Given the description of an element on the screen output the (x, y) to click on. 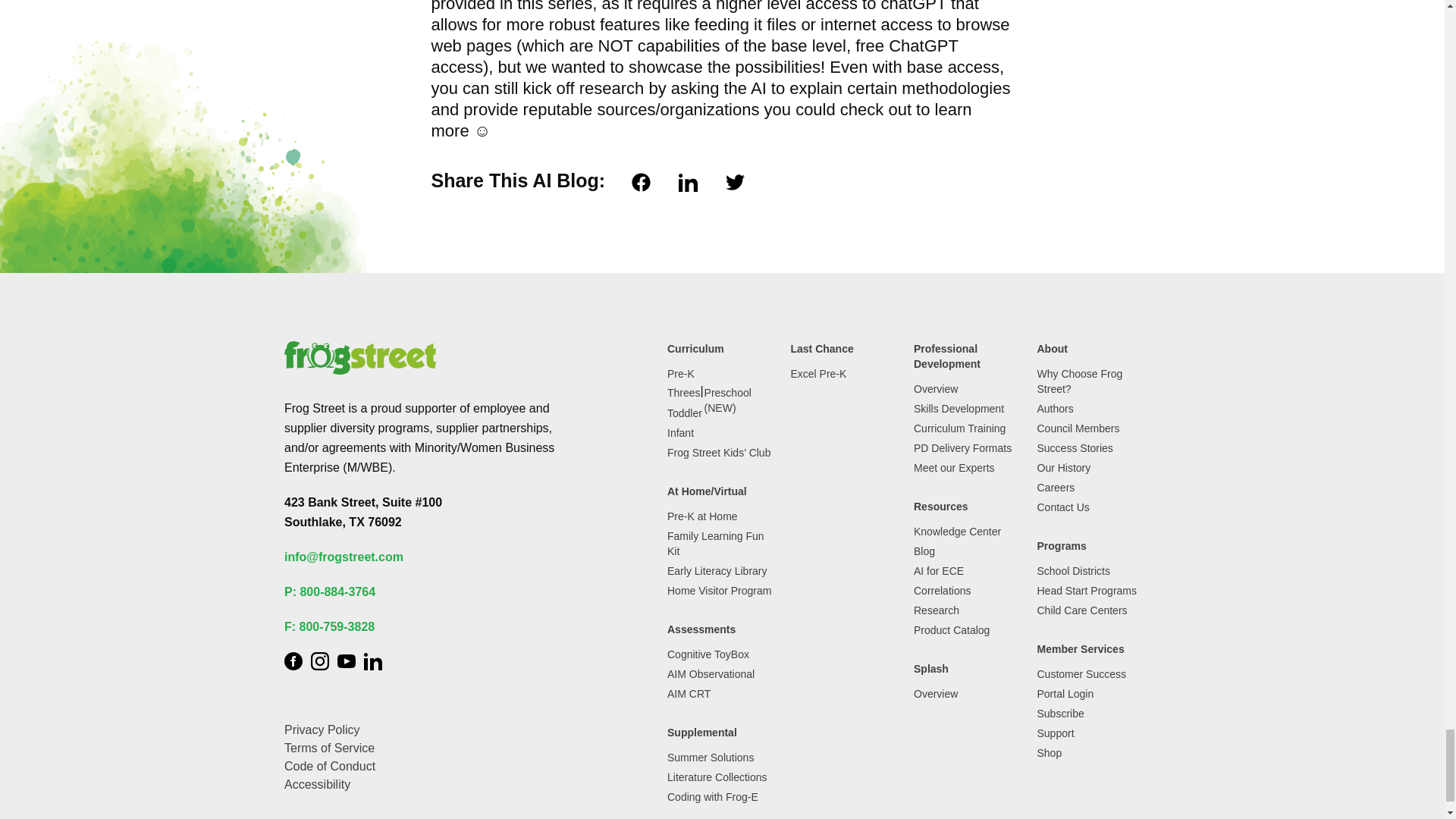
Linkedin Link (372, 660)
Instagram Link (320, 660)
Youtube Link (346, 660)
Facebook Link (292, 660)
